Given the description of an element on the screen output the (x, y) to click on. 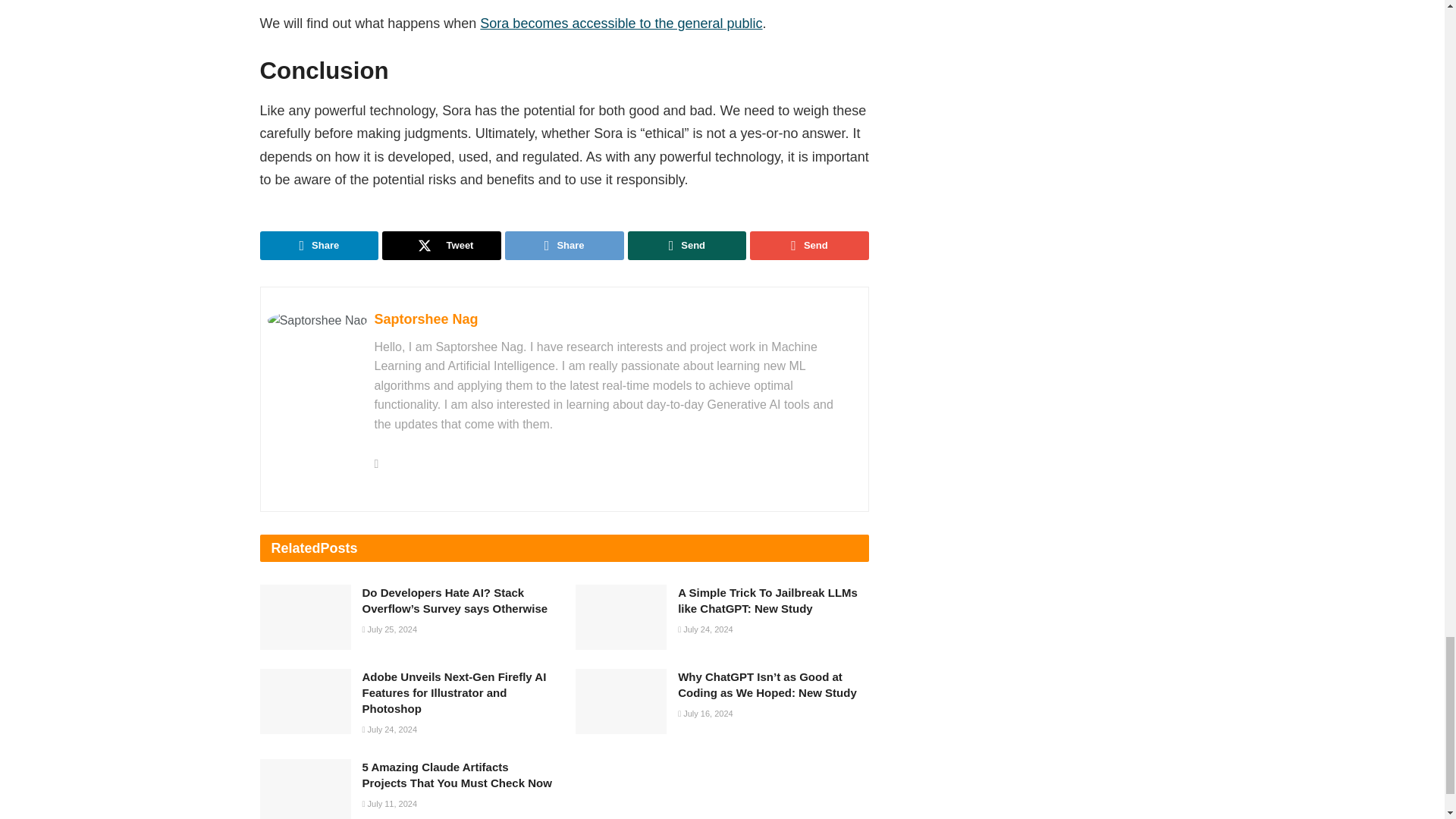
Sora becomes accessible to the general public (620, 23)
Share (318, 245)
